Given the description of an element on the screen output the (x, y) to click on. 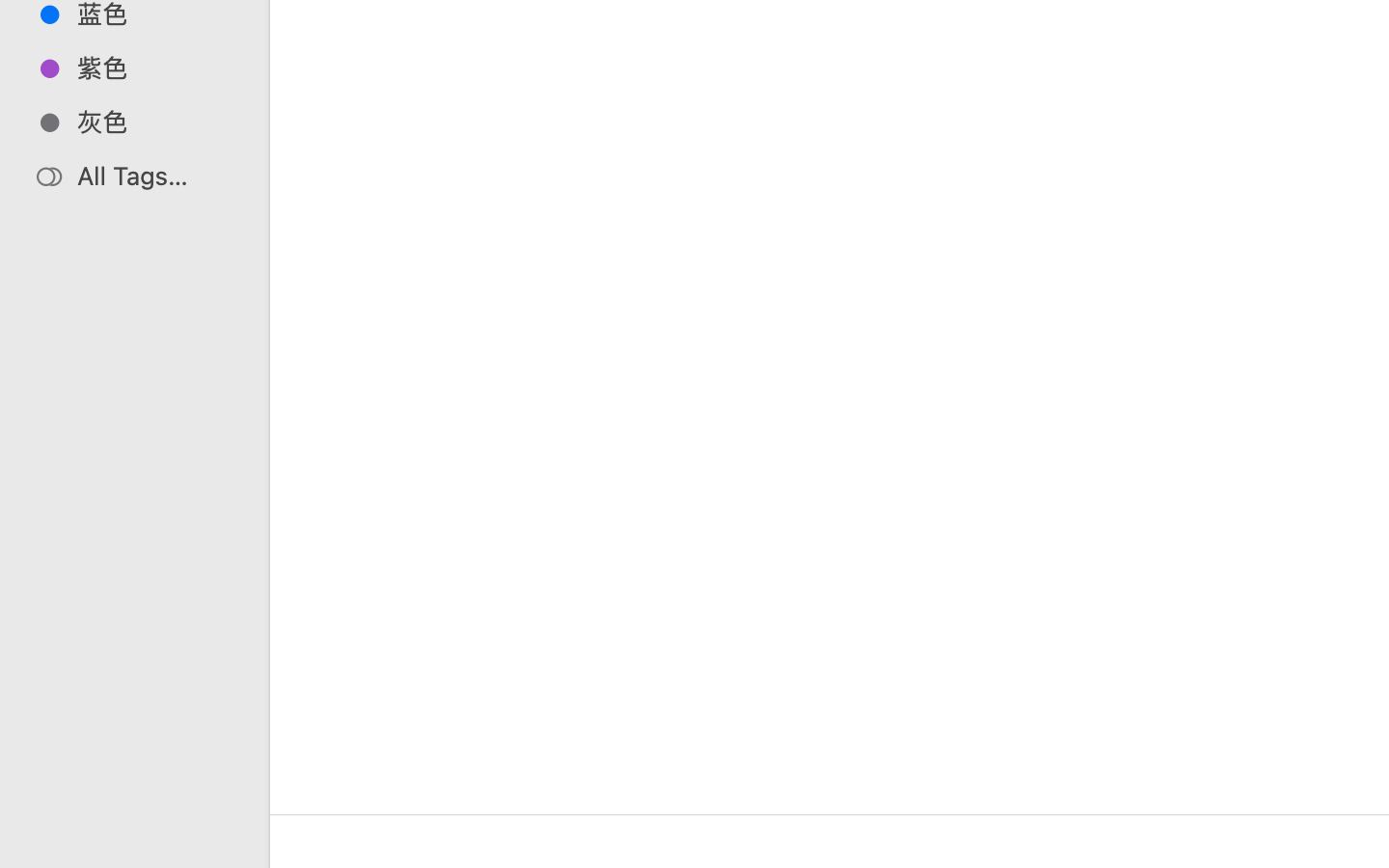
Tags… Element type: AXStaticText (41, 852)
灰色 Element type: AXStaticText (155, 121)
Searching “This Mac” Element type: AXStaticText (875, 786)
0 Element type: AXRadioButton (23, 846)
All Tags… Element type: AXStaticText (155, 175)
